Given the description of an element on the screen output the (x, y) to click on. 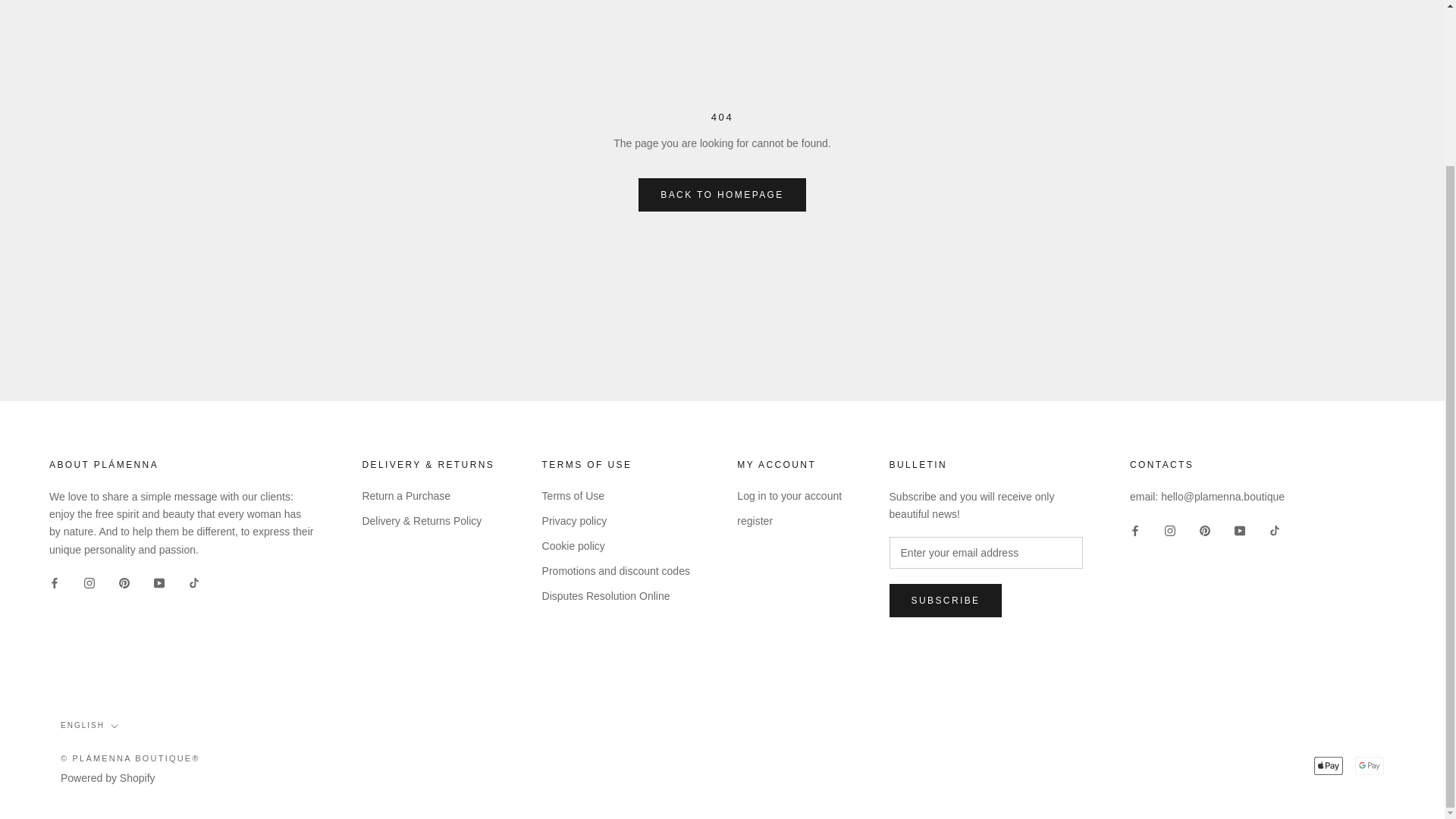
Apple Pay (1328, 764)
Google Pay (1369, 764)
